Given the description of an element on the screen output the (x, y) to click on. 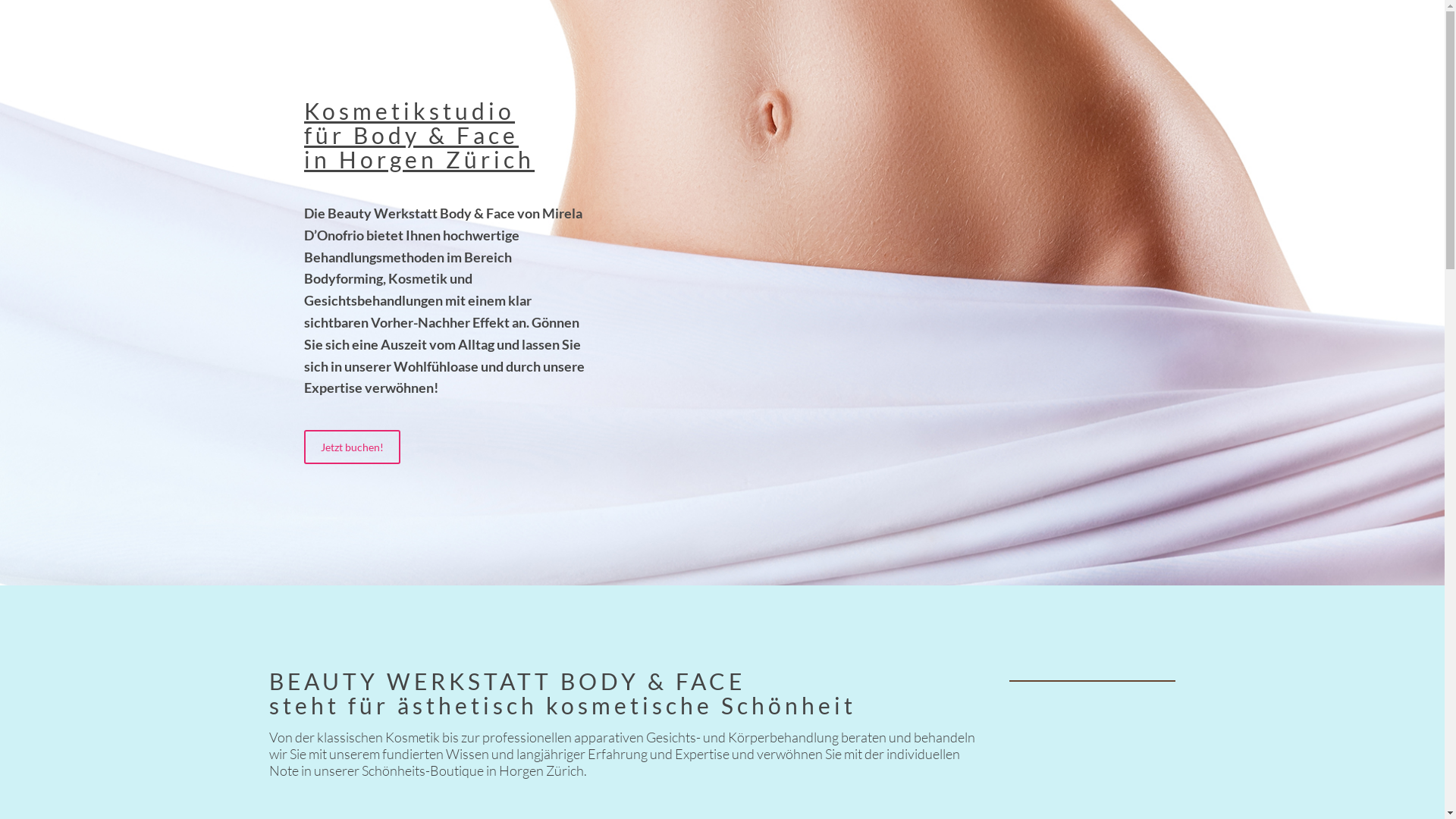
Jetzt buchen! Element type: text (352, 446)
